Given the description of an element on the screen output the (x, y) to click on. 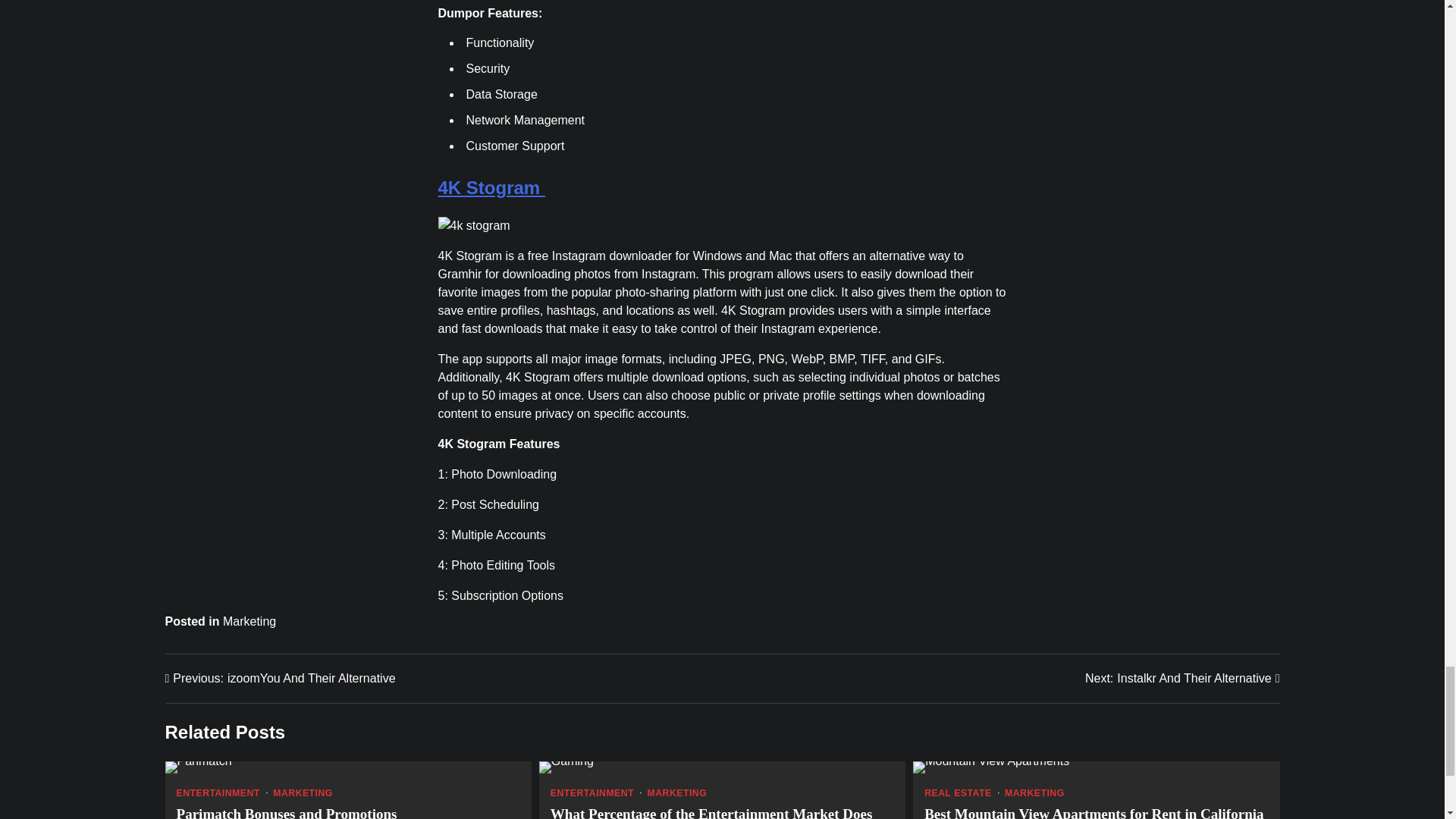
4K Stogram  (491, 187)
